Given the description of an element on the screen output the (x, y) to click on. 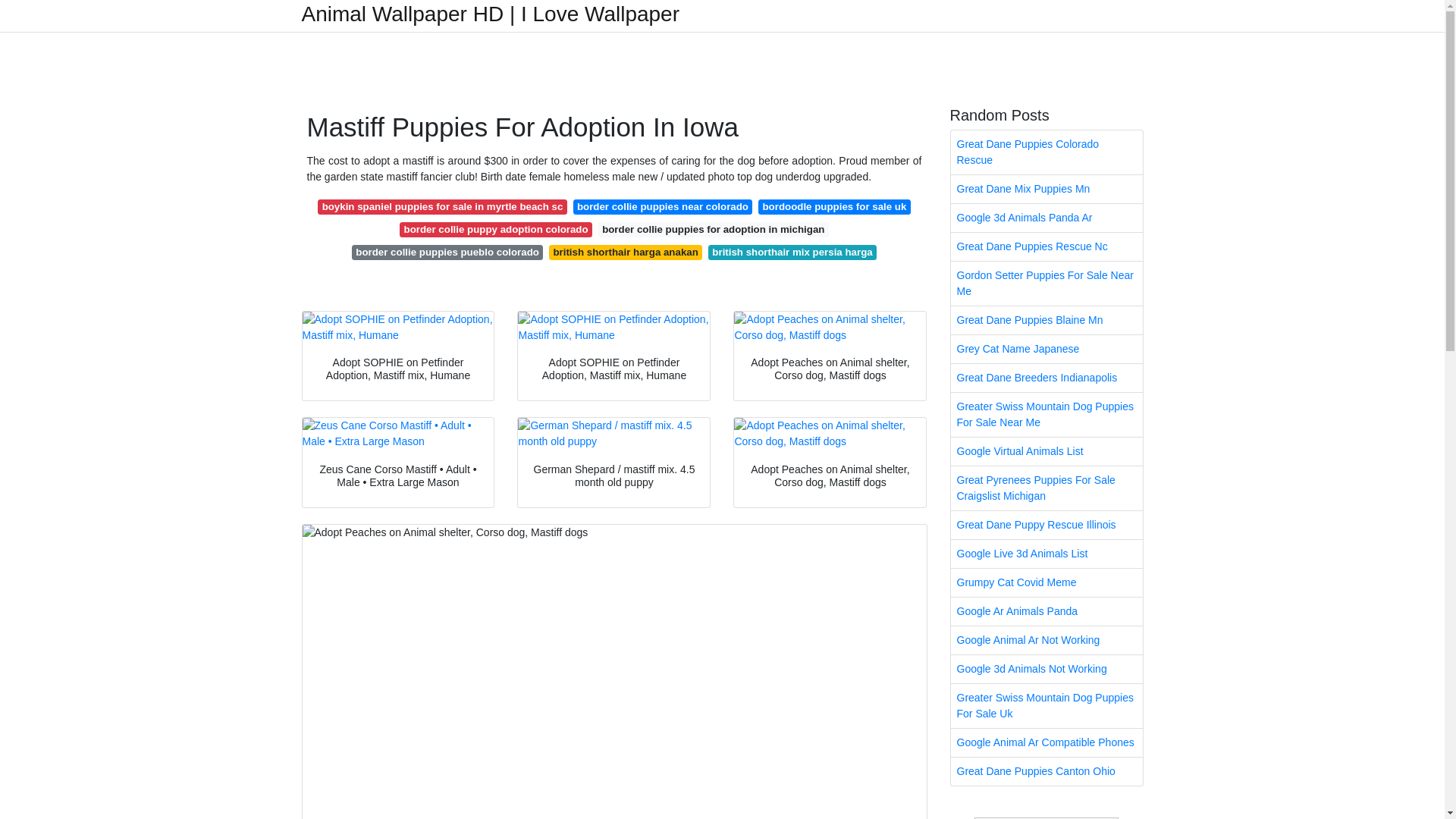
border collie puppies near colorado (662, 206)
Gordon Setter Puppies For Sale Near Me (1046, 283)
border collie puppies for adoption in michigan (713, 229)
border collie puppies pueblo colorado (447, 252)
Great Dane Puppies Rescue Nc (1046, 246)
british shorthair harga anakan (624, 252)
border collie puppy adoption colorado (495, 229)
Great Dane Puppies Colorado Rescue (1046, 152)
Google 3d Animals Panda Ar (1046, 217)
boykin spaniel puppies for sale in myrtle beach sc (441, 206)
